Given the description of an element on the screen output the (x, y) to click on. 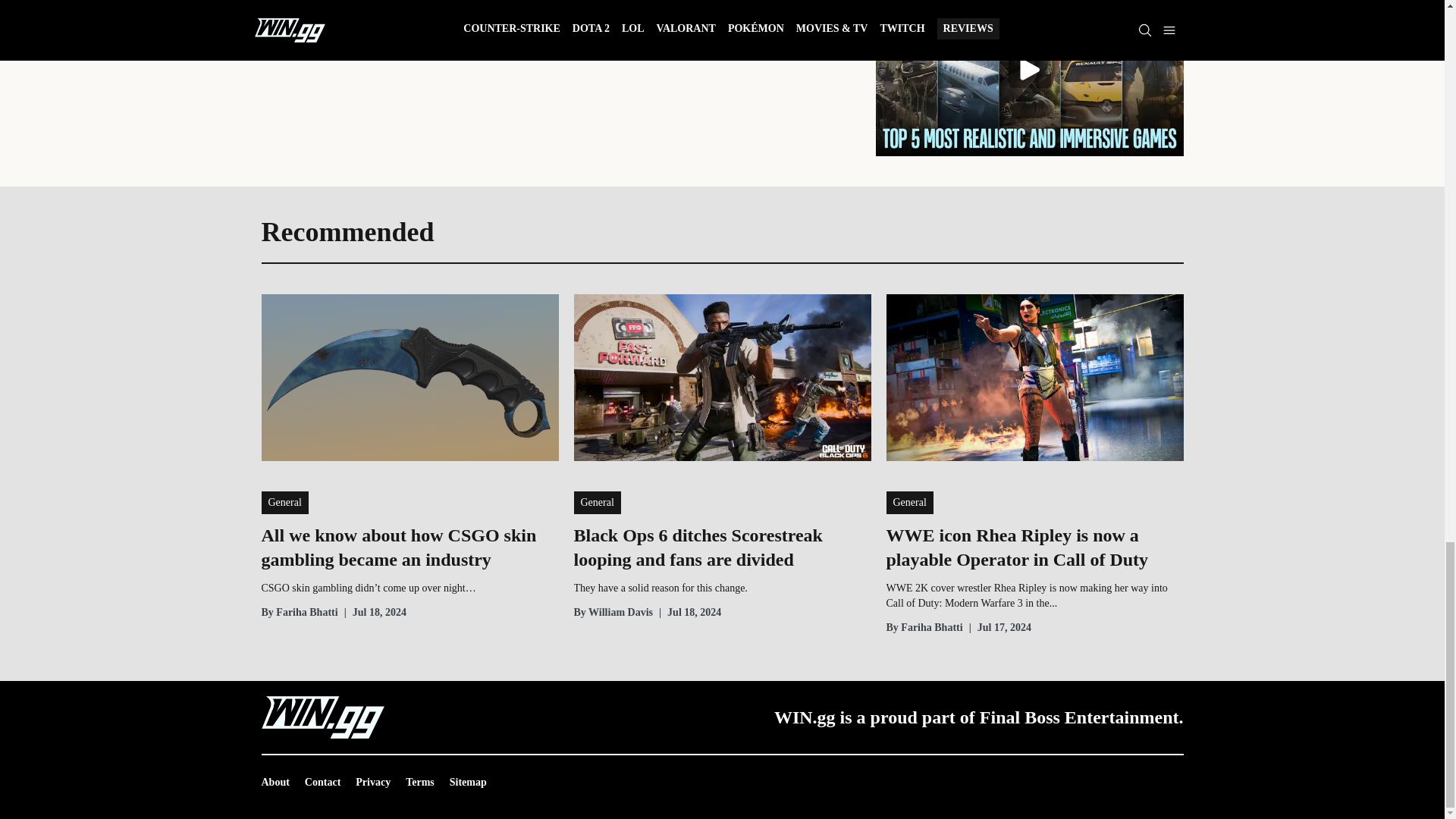
Black Ops 6 ditches Scorestreak looping and fans are divided (721, 547)
All we know about how CSGO skin gambling became an industry (408, 547)
General (283, 502)
By Fariha Bhatti (298, 612)
By William Davis (612, 612)
General (909, 502)
General (596, 502)
